Given the description of an element on the screen output the (x, y) to click on. 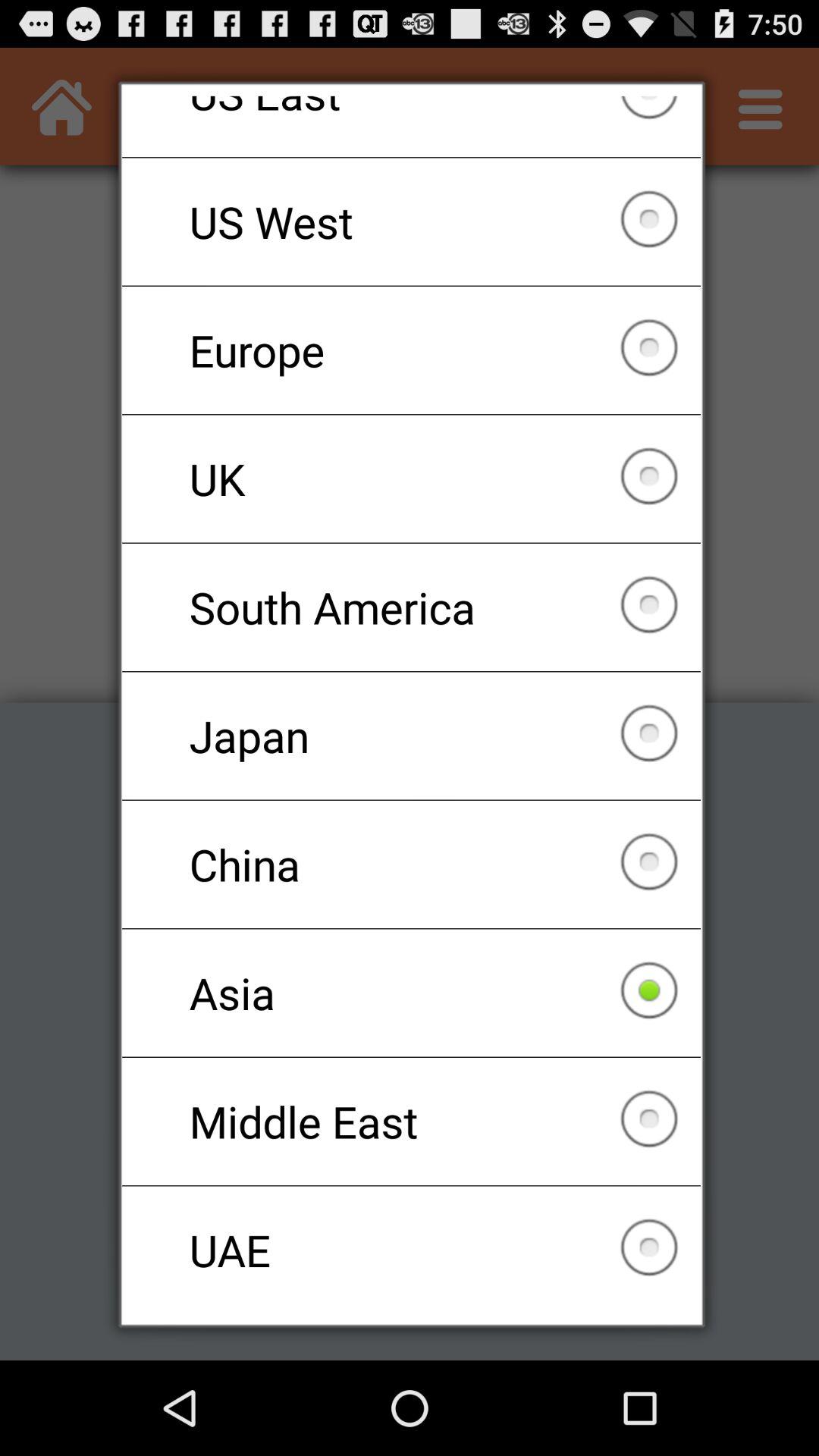
jump until the     south america (411, 607)
